Given the description of an element on the screen output the (x, y) to click on. 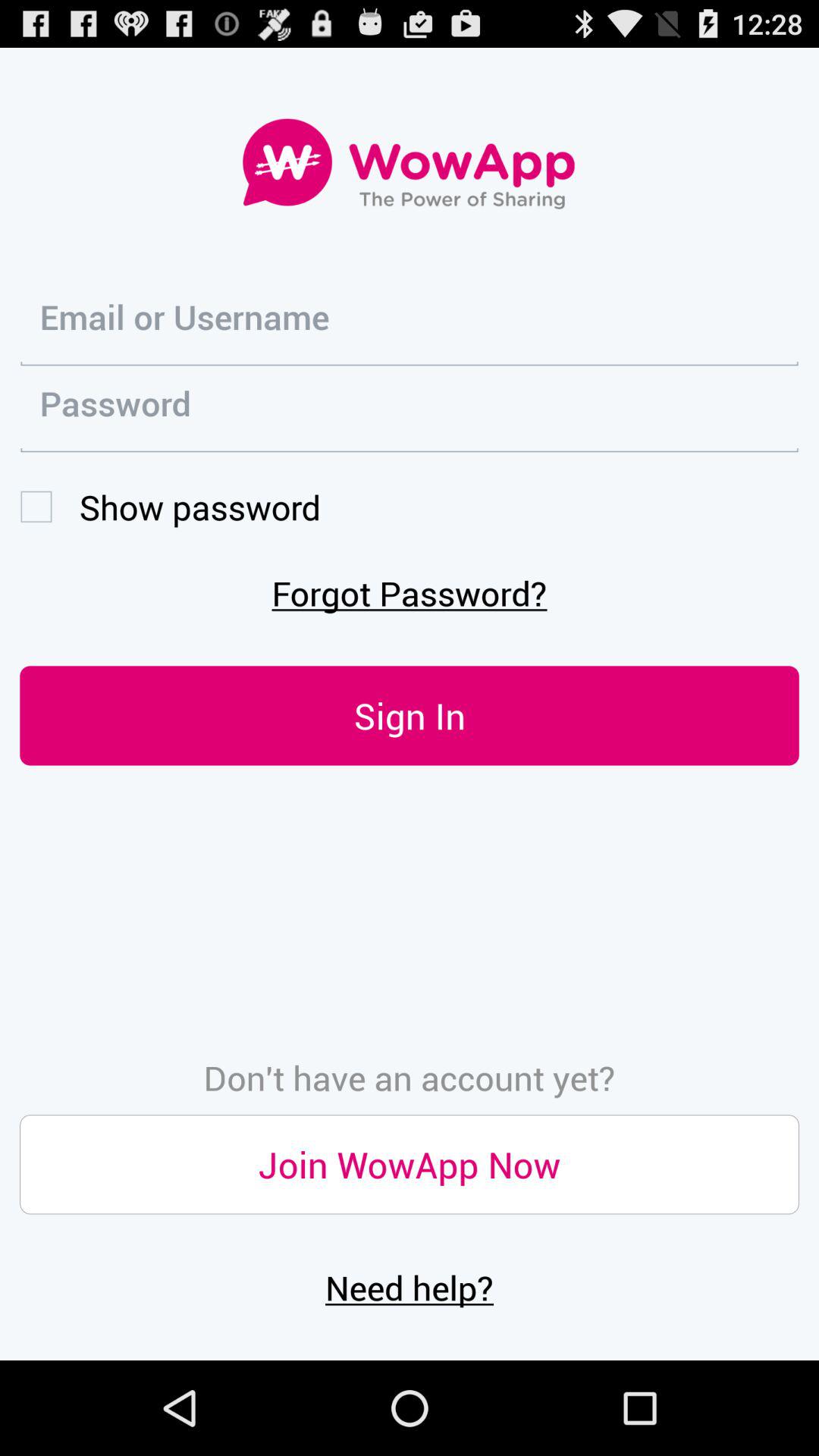
open the item above the don t have icon (409, 715)
